Given the description of an element on the screen output the (x, y) to click on. 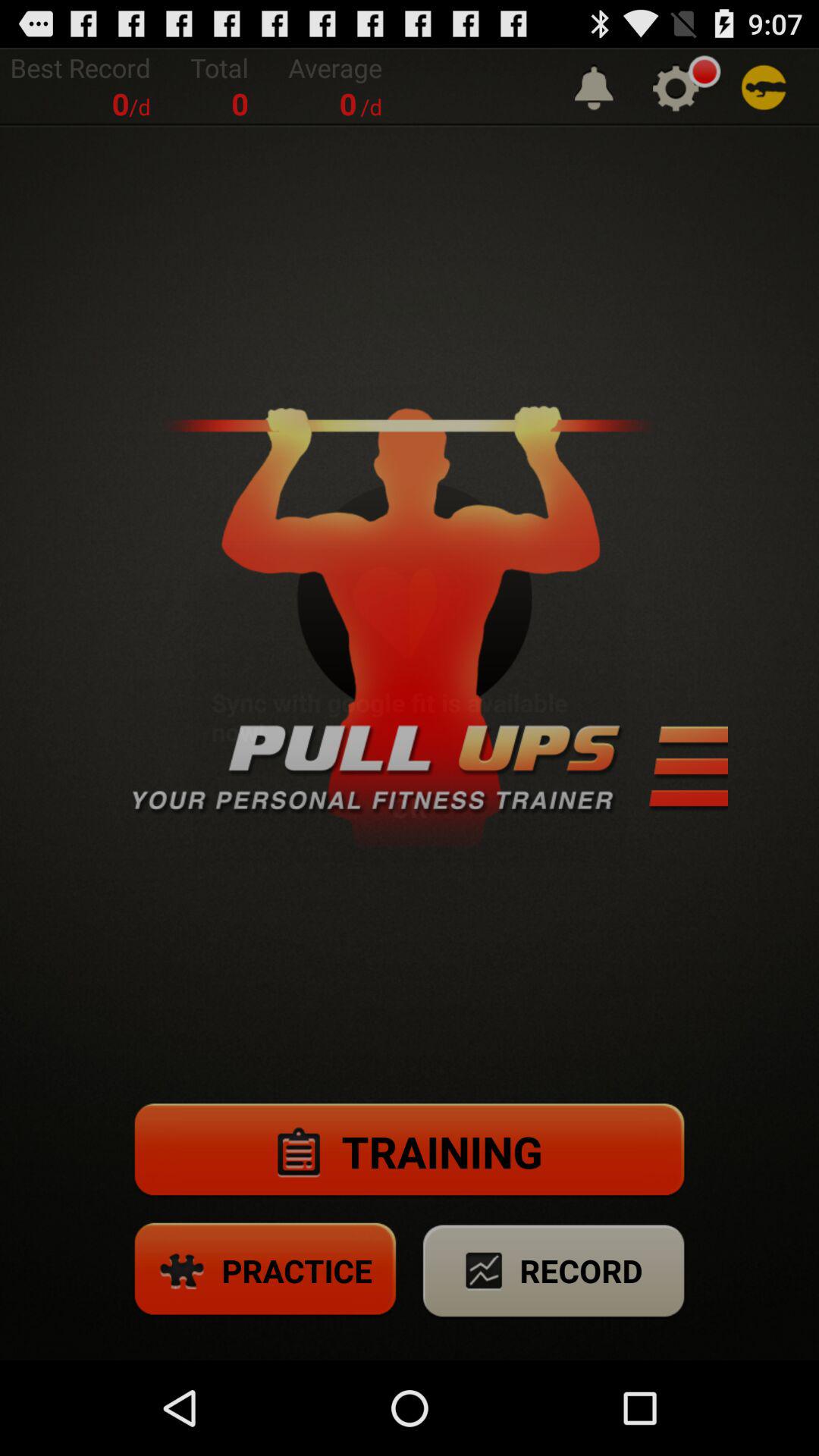
select the app to the right of the average (594, 87)
